Given the description of an element on the screen output the (x, y) to click on. 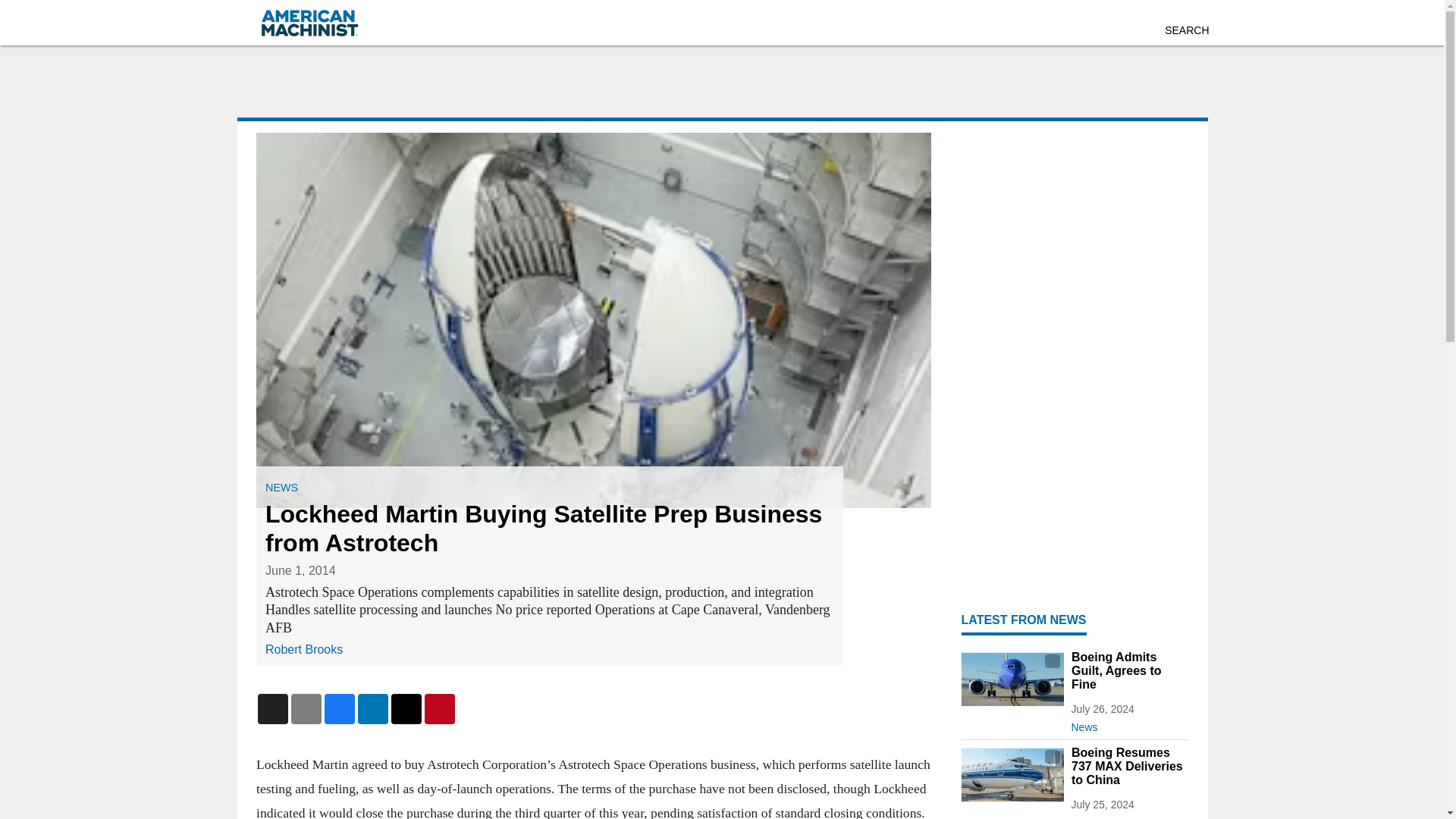
News (1129, 723)
Boeing Admits Guilt, Agrees to Fine (1129, 670)
Boeing Resumes 737 MAX Deliveries to China (1129, 766)
NEWS (281, 487)
News (1129, 814)
SEARCH (1186, 30)
Robert Brooks (303, 649)
